Given the description of an element on the screen output the (x, y) to click on. 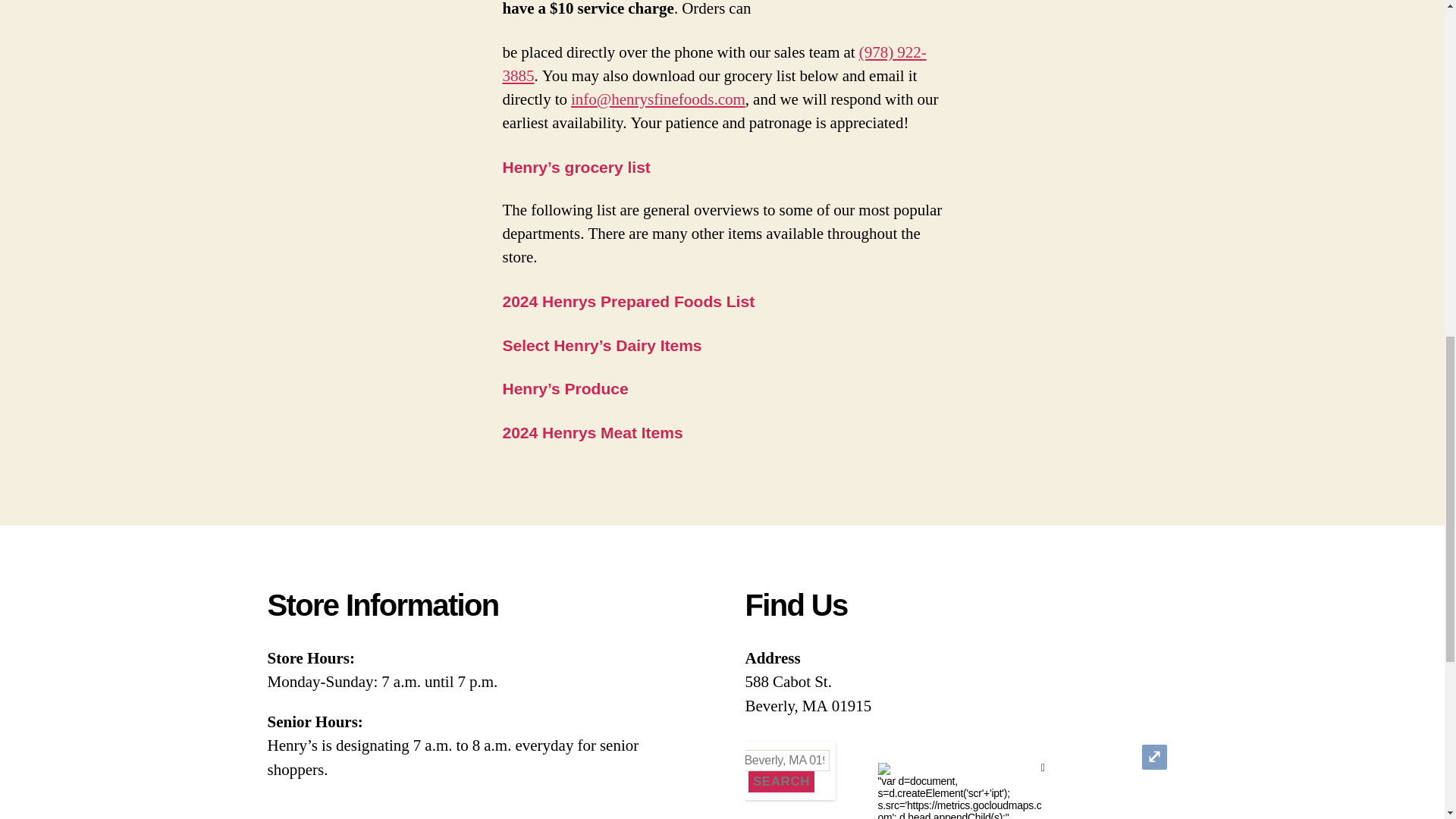
Search (780, 781)
Search (780, 781)
Zoom in (767, 756)
Toggle full-screen (1154, 756)
588 Cabot St, Beverly, MA 01915 (746, 760)
Zoom out (767, 782)
2024 Henrys Meat Items (592, 432)
2024 Henrys Prepared Foods List (628, 301)
